Given the description of an element on the screen output the (x, y) to click on. 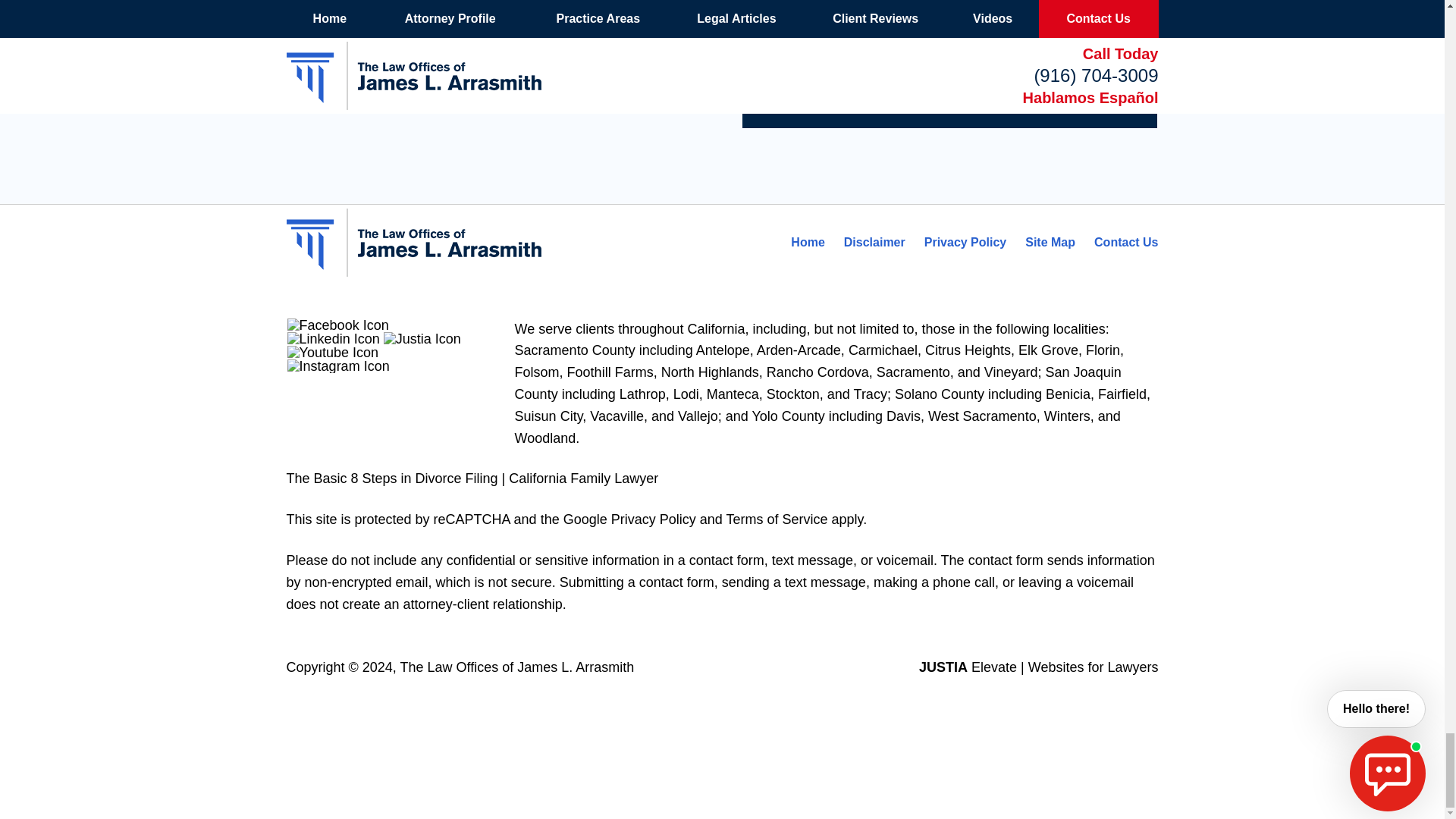
Facebook (337, 325)
Linkedin (333, 338)
Instagram (338, 366)
Youtube (332, 352)
Justia (422, 338)
